Given the description of an element on the screen output the (x, y) to click on. 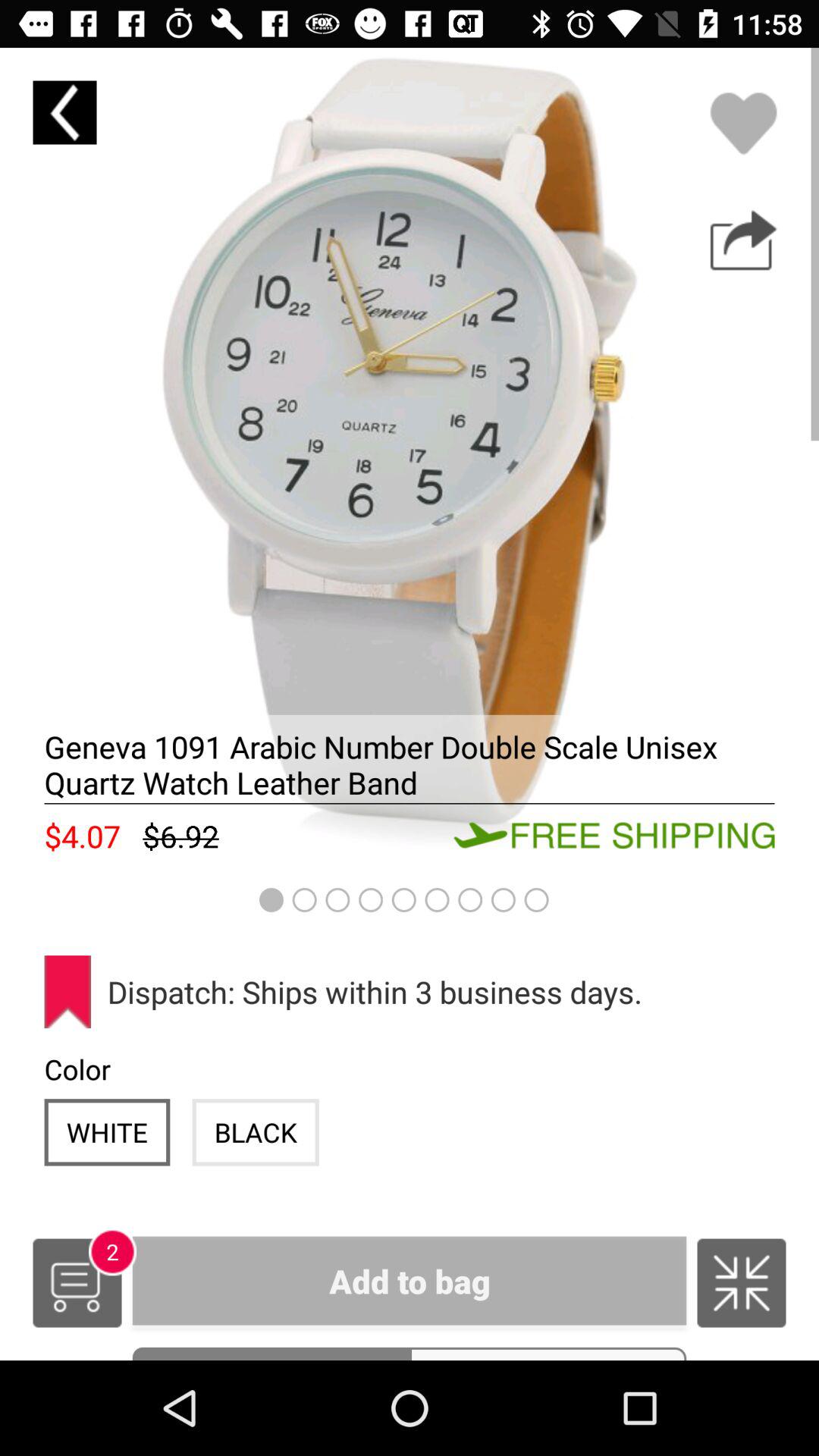
choose the icon above the 2 (107, 1131)
